Given the description of an element on the screen output the (x, y) to click on. 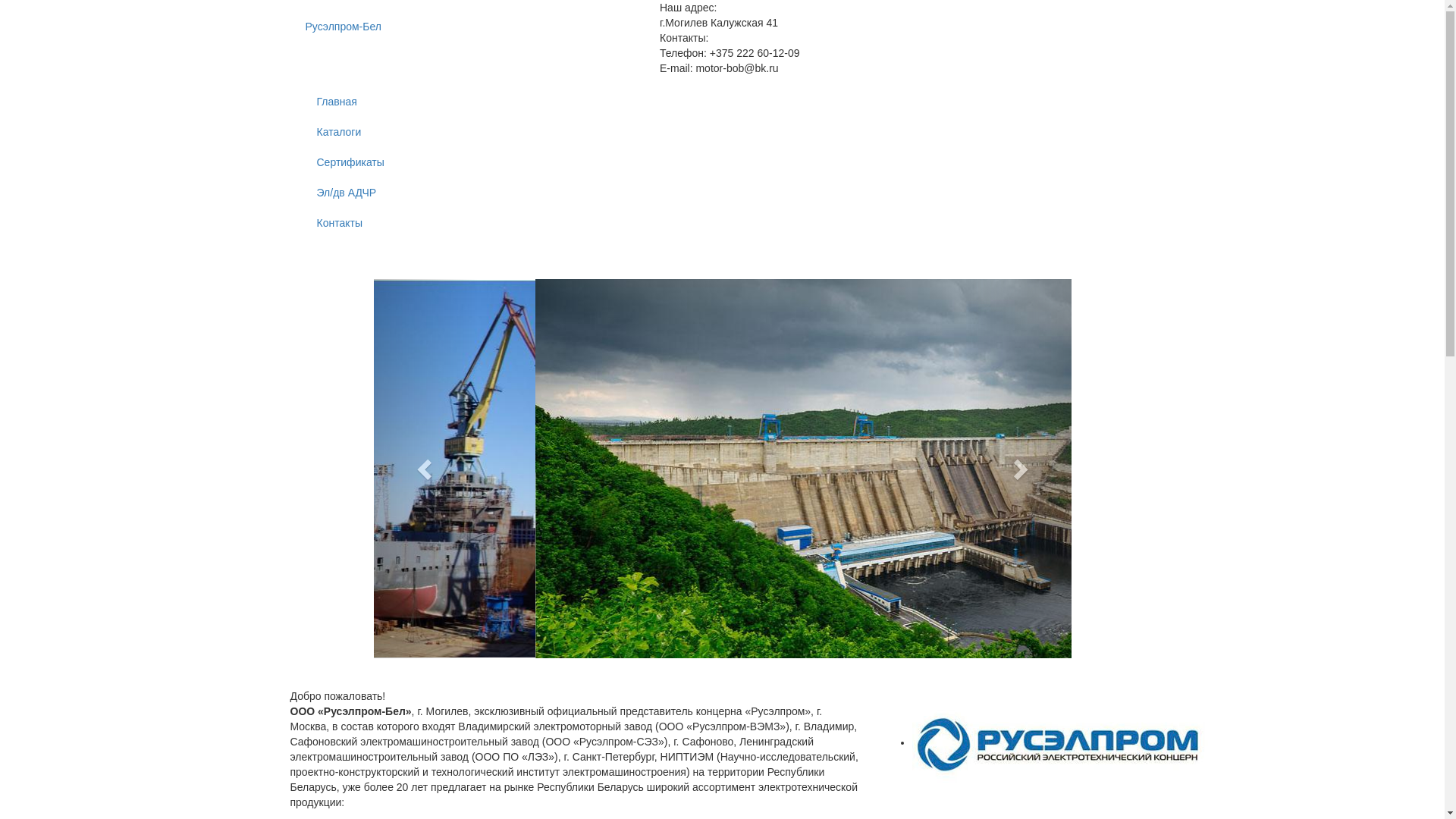
Next Element type: text (1018, 468)
Previous Element type: text (425, 468)
